Given the description of an element on the screen output the (x, y) to click on. 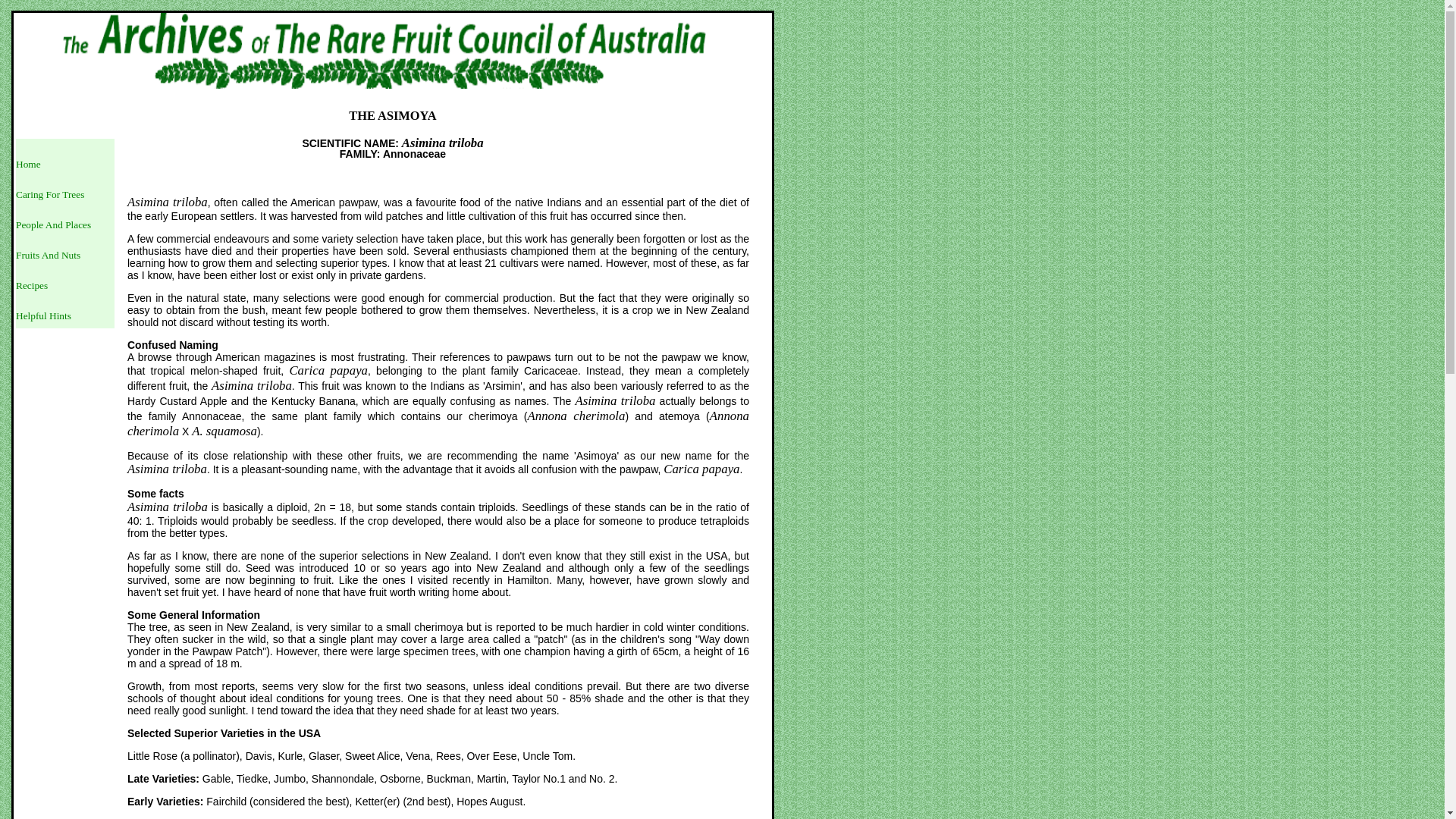
Fruits And Nuts Element type: text (47, 254)
Caring For Trees Element type: text (49, 194)
Home Element type: text (27, 163)
People And Places Element type: text (53, 224)
sitename Element type: hover (392, 54)
Helpful Hints Element type: text (43, 315)
Recipes Element type: text (31, 285)
